Given the description of an element on the screen output the (x, y) to click on. 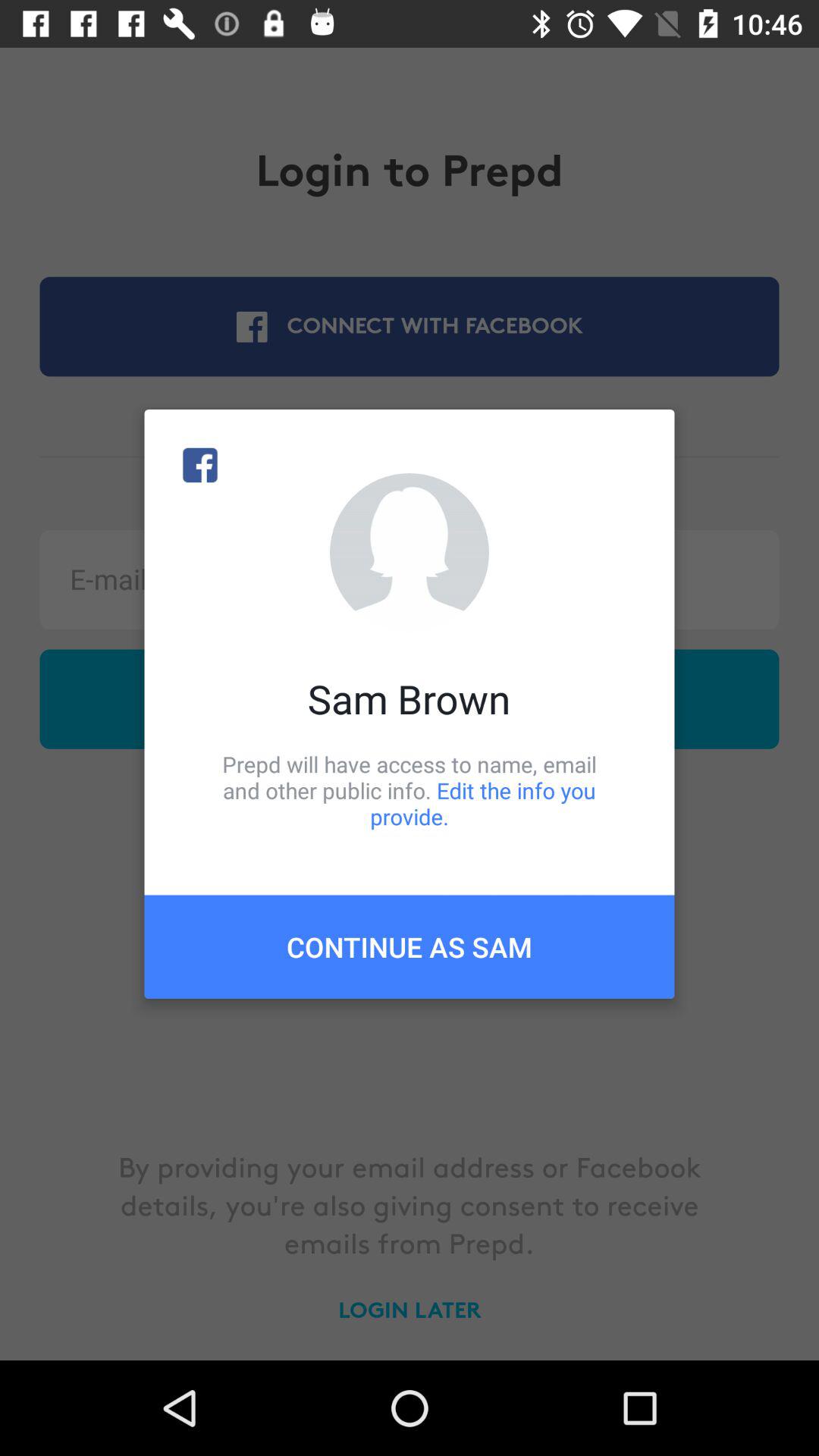
flip until the continue as sam icon (409, 946)
